Given the description of an element on the screen output the (x, y) to click on. 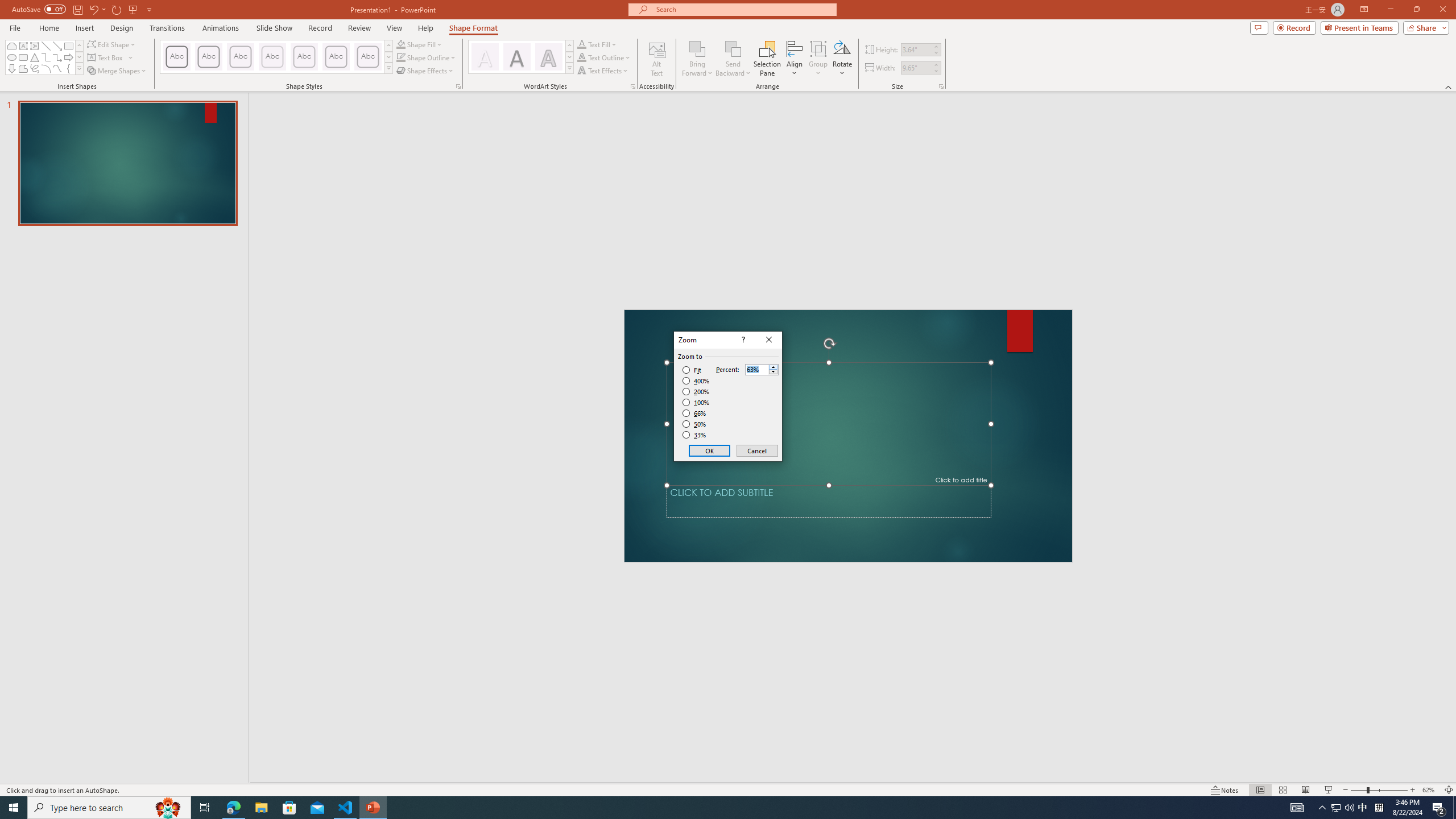
Colored Outline - Green, Accent 4 (304, 56)
50% (694, 424)
100% (696, 402)
Align (794, 58)
Draw Horizontal Text Box (105, 56)
